Given the description of an element on the screen output the (x, y) to click on. 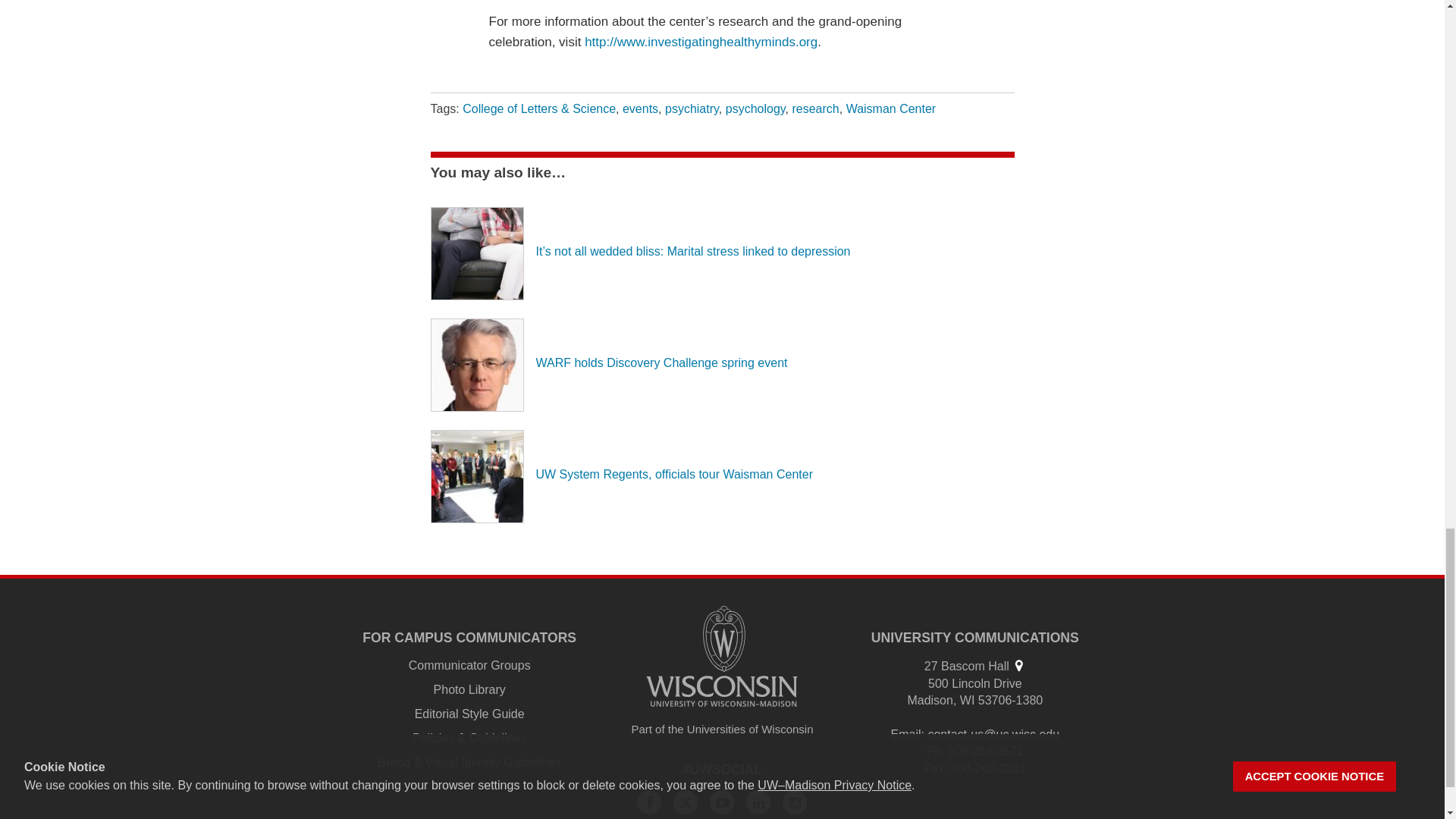
research (815, 108)
phone (934, 750)
Linked In (757, 802)
Facebook (649, 802)
psychiatry (692, 108)
Wisconsin (967, 699)
Instagram (794, 802)
Waisman Center (890, 108)
Social media links (722, 769)
YouTube (721, 802)
